Given the description of an element on the screen output the (x, y) to click on. 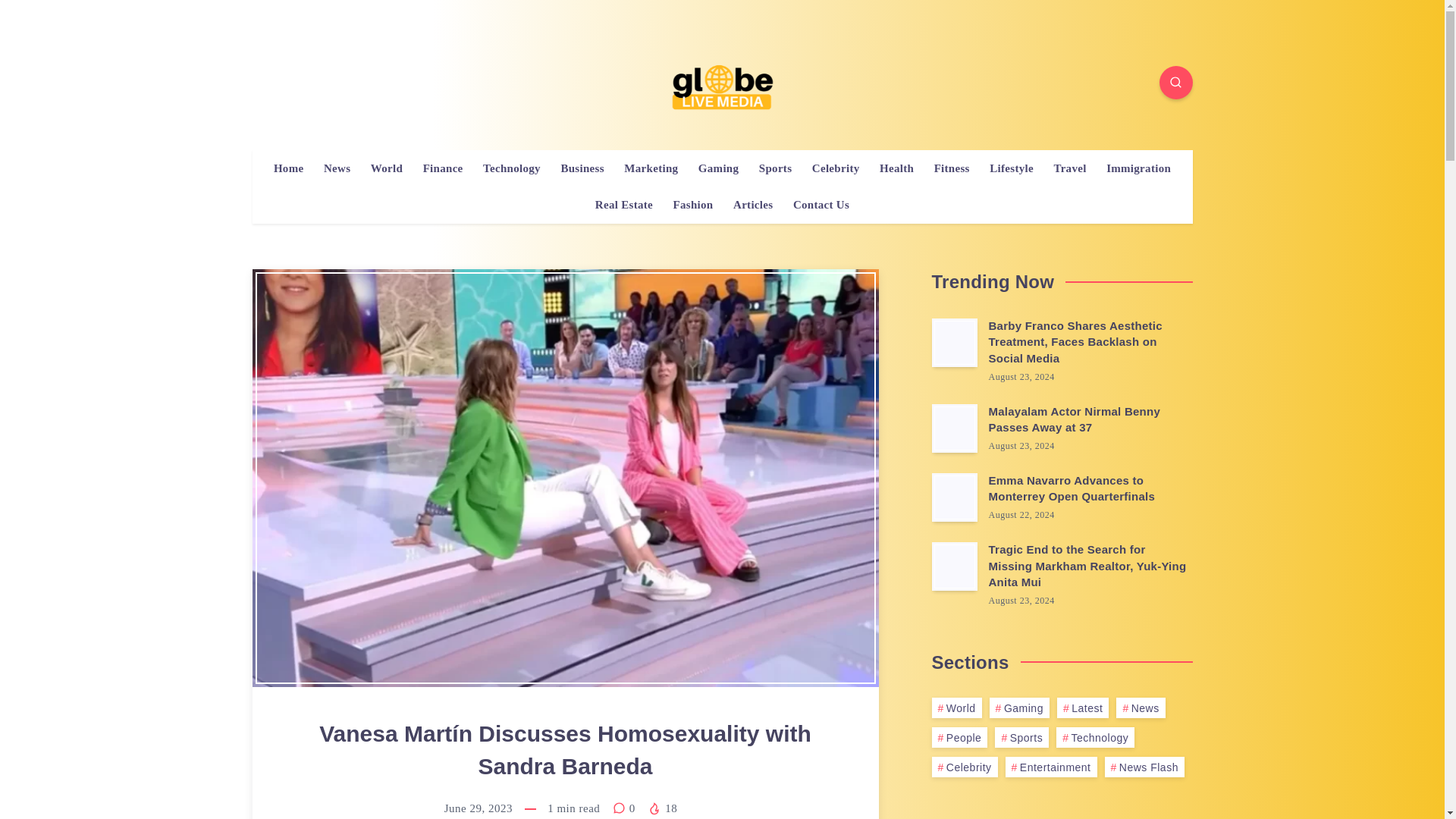
Lifestyle (1011, 168)
Articles (753, 205)
Health (896, 168)
Marketing (651, 168)
Celebrity (836, 168)
Fitness (951, 168)
Real Estate (623, 205)
0 Comments (625, 808)
Technology (511, 168)
18 Views (662, 808)
